Given the description of an element on the screen output the (x, y) to click on. 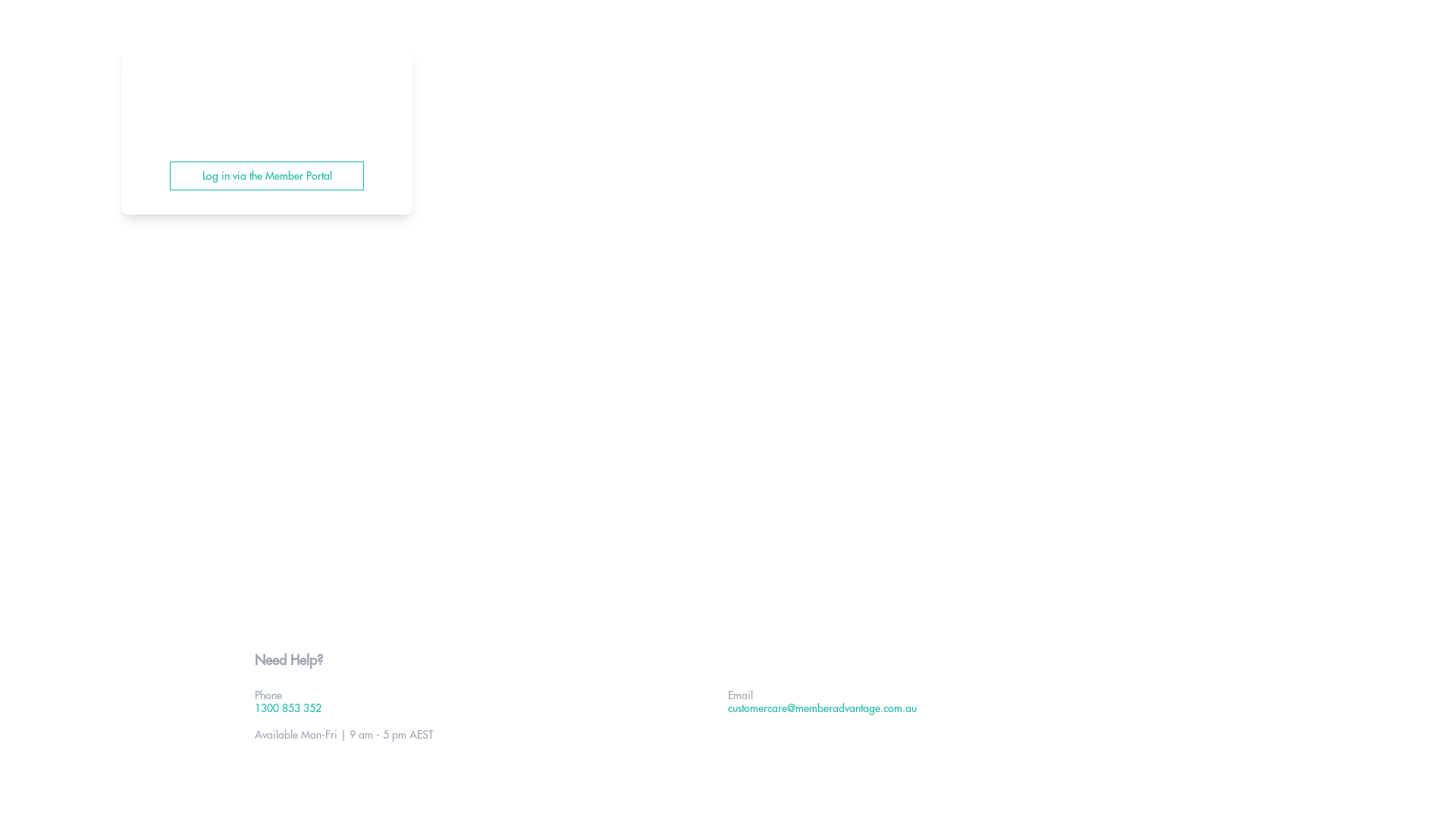
Log in via the Member Portal Element type: text (266, 175)
